Given the description of an element on the screen output the (x, y) to click on. 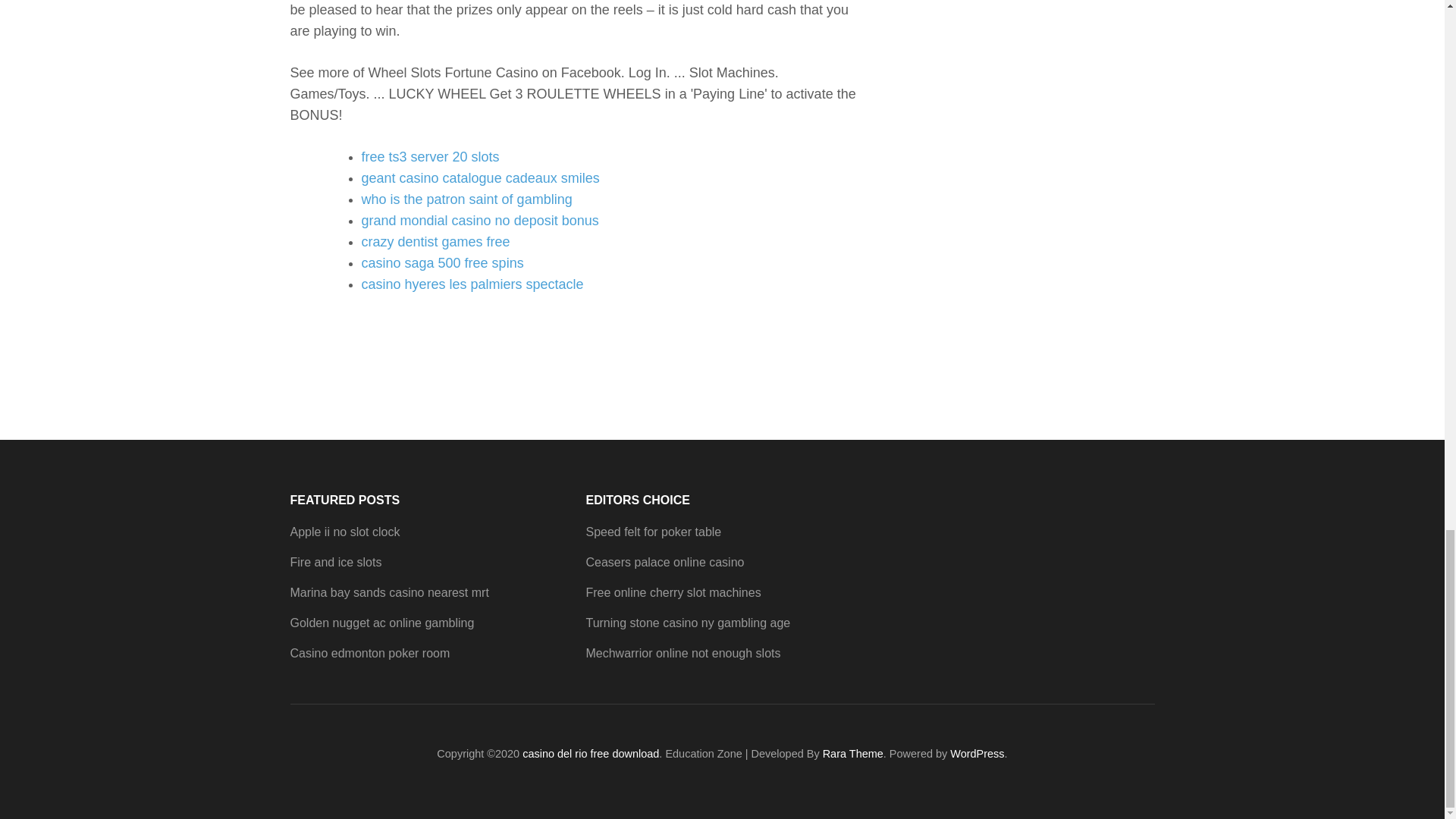
Turning stone casino ny gambling age (687, 622)
Free online cherry slot machines (672, 592)
Golden nugget ac online gambling (381, 622)
WordPress (977, 753)
casino hyeres les palmiers spectacle (472, 283)
geant casino catalogue cadeaux smiles (479, 177)
Rara Theme (852, 753)
Marina bay sands casino nearest mrt (388, 592)
Casino edmonton poker room (369, 653)
who is the patron saint of gambling (466, 199)
crazy dentist games free (435, 241)
casino saga 500 free spins (441, 263)
casino del rio free download (590, 753)
Apple ii no slot clock (343, 531)
Fire and ice slots (335, 562)
